Given the description of an element on the screen output the (x, y) to click on. 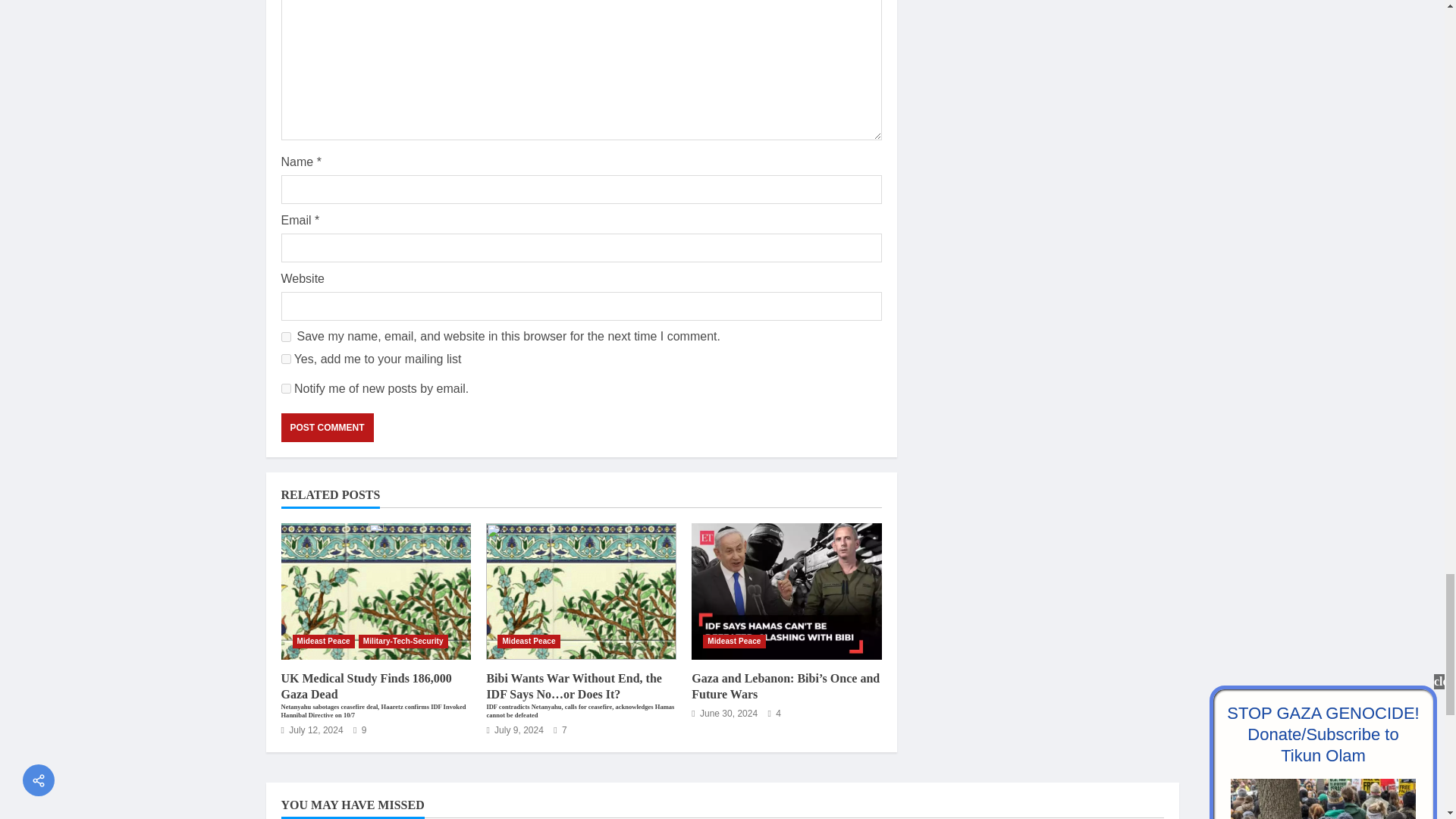
yes (285, 337)
1 (285, 358)
subscribe (285, 388)
Post Comment (326, 427)
